Given the description of an element on the screen output the (x, y) to click on. 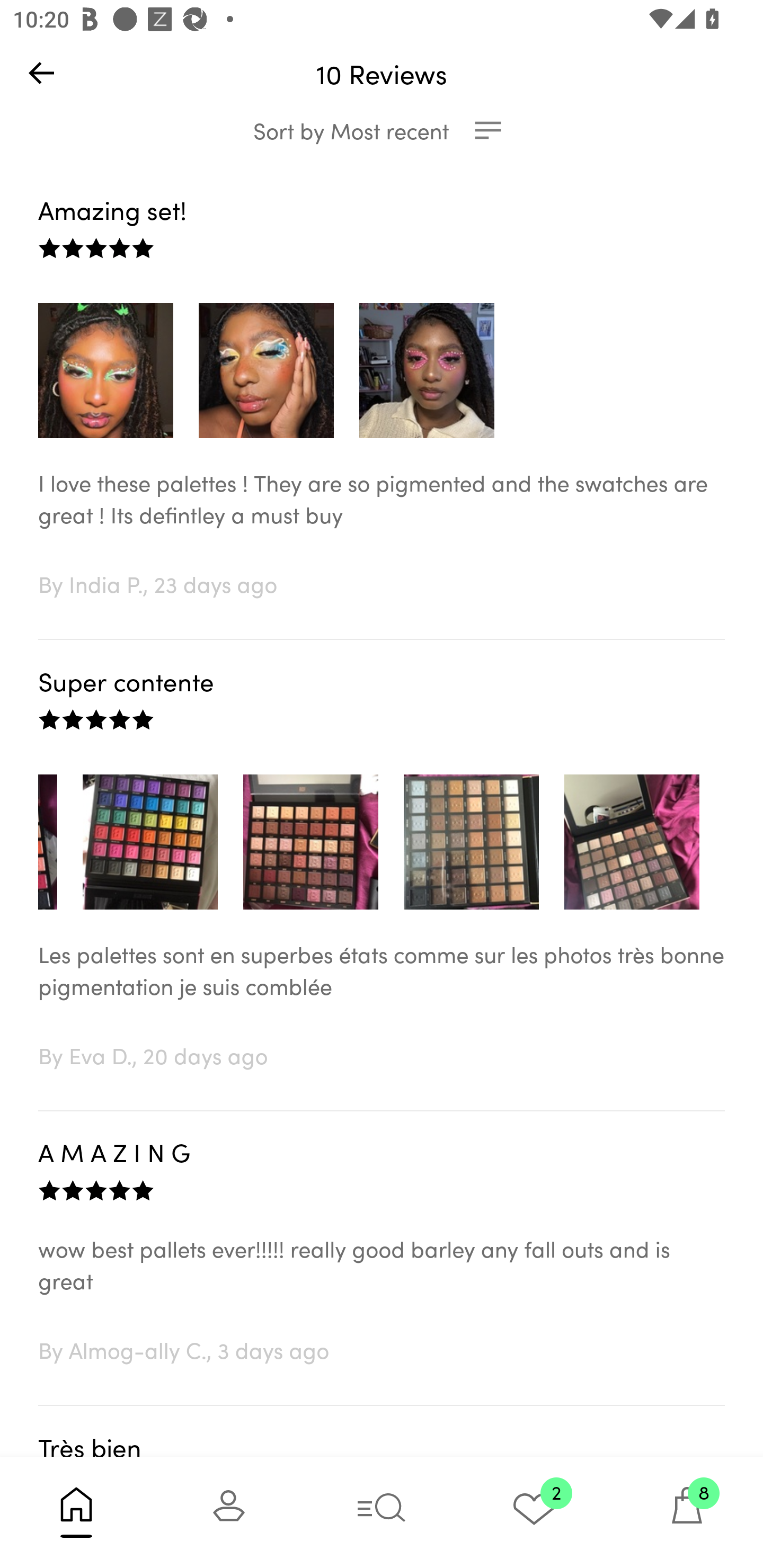
Sort by Most recent (381, 130)
2 (533, 1512)
8 (686, 1512)
